Given the description of an element on the screen output the (x, y) to click on. 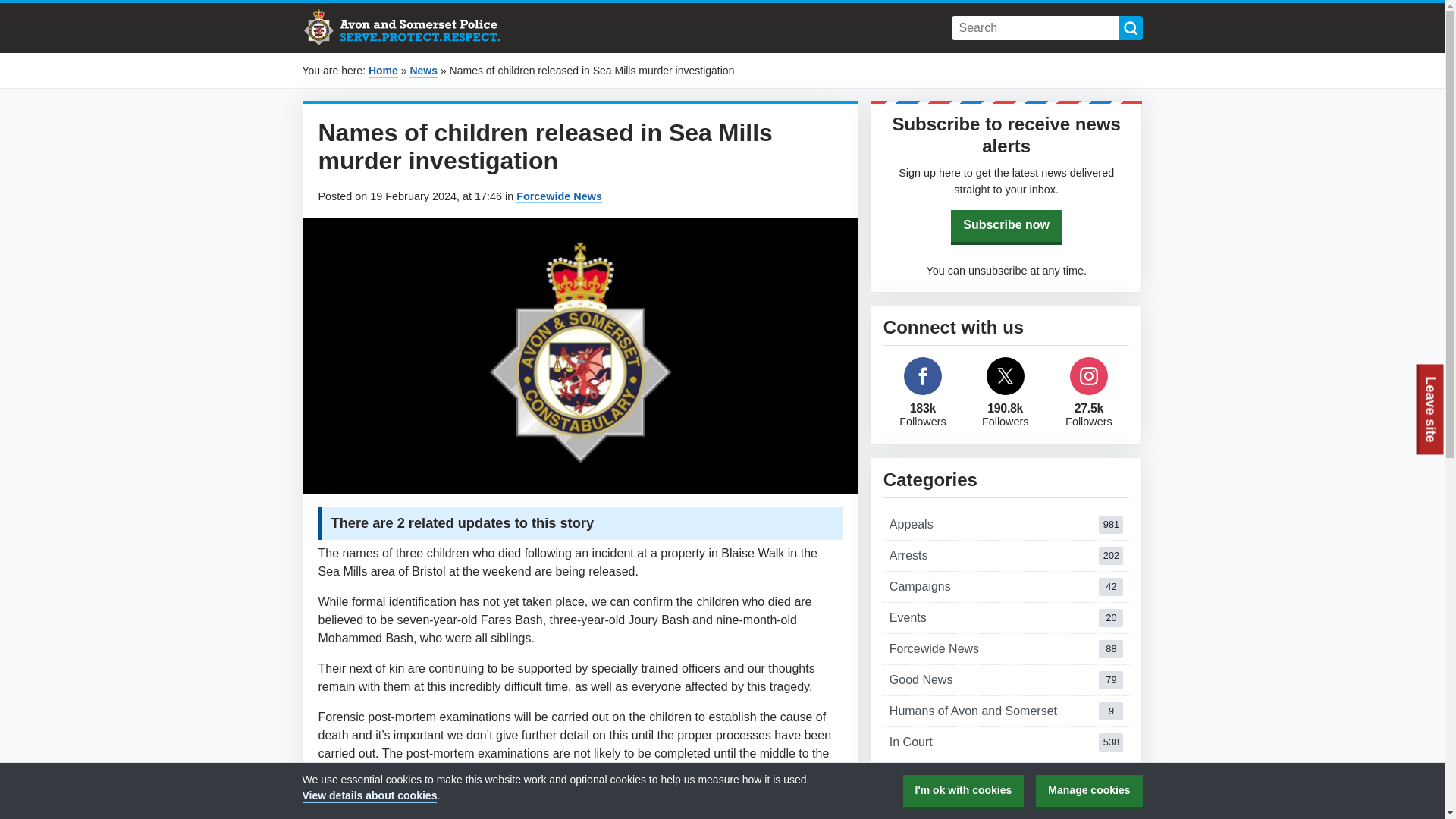
News (423, 70)
Subscribe now (1006, 773)
Instagram (1006, 555)
Forcewide News (1006, 524)
